Given the description of an element on the screen output the (x, y) to click on. 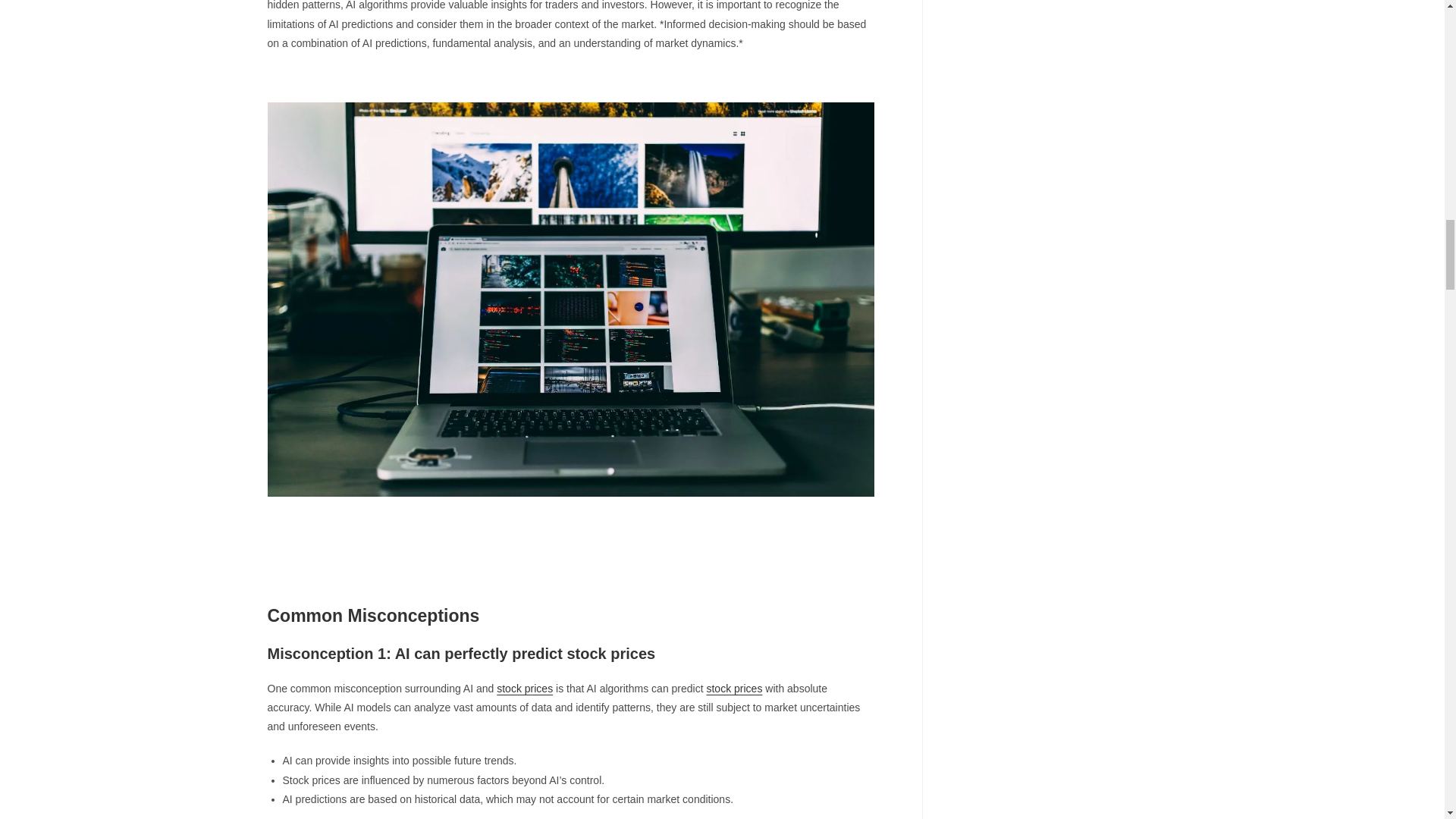
stock prices (733, 688)
stock prices (524, 688)
